Given the description of an element on the screen output the (x, y) to click on. 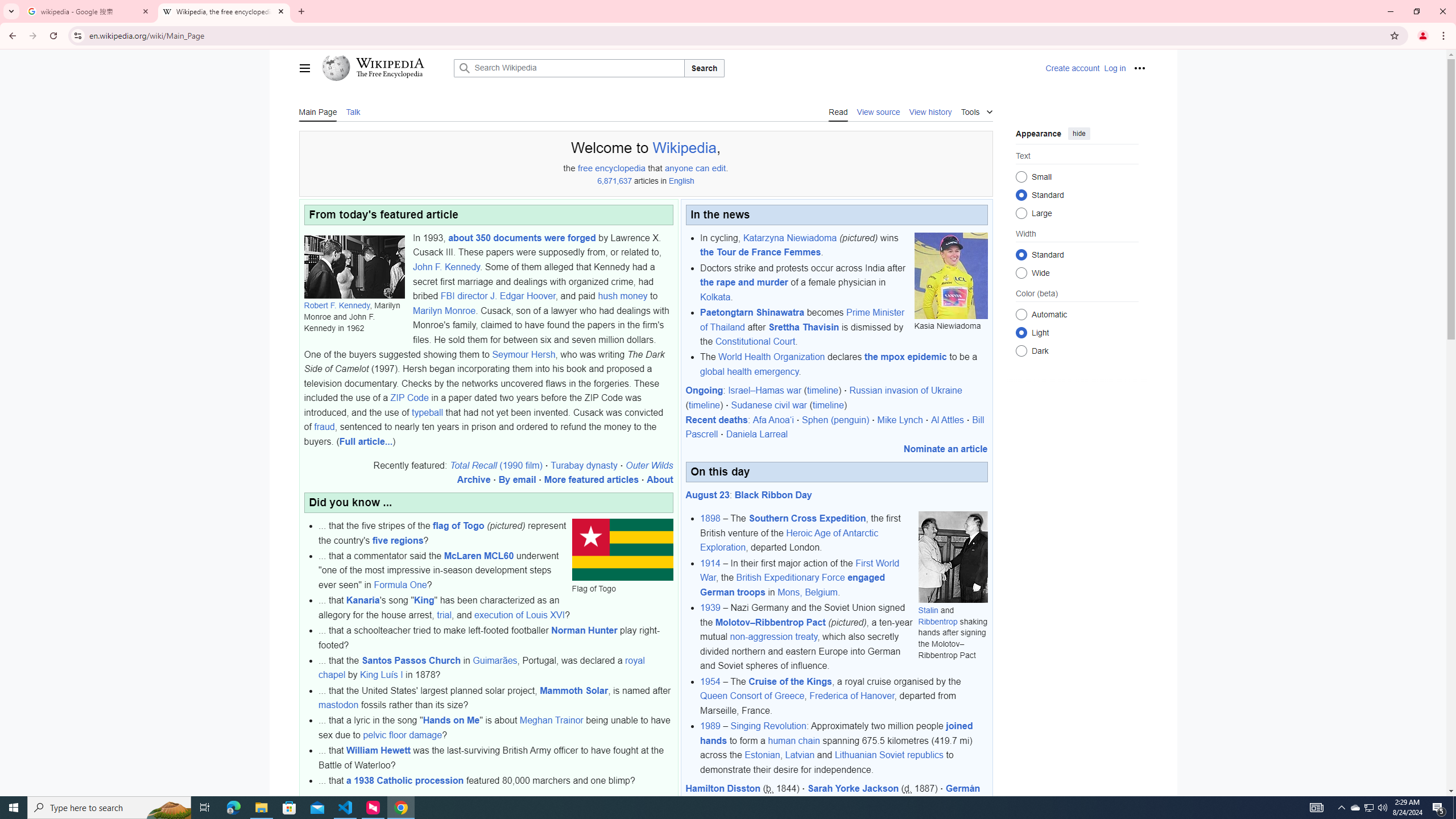
1898 (710, 518)
Search Wikipedia (568, 67)
Sarah Yorke Jackson (852, 788)
Dark (1020, 350)
mastodon (338, 705)
Small (1020, 176)
Lithuanian Soviet republics (888, 755)
human chain (793, 740)
Santos Passos Church (410, 660)
Queen Consort of Greece (752, 696)
Al Attles (946, 419)
the mpox epidemic (904, 356)
